Given the description of an element on the screen output the (x, y) to click on. 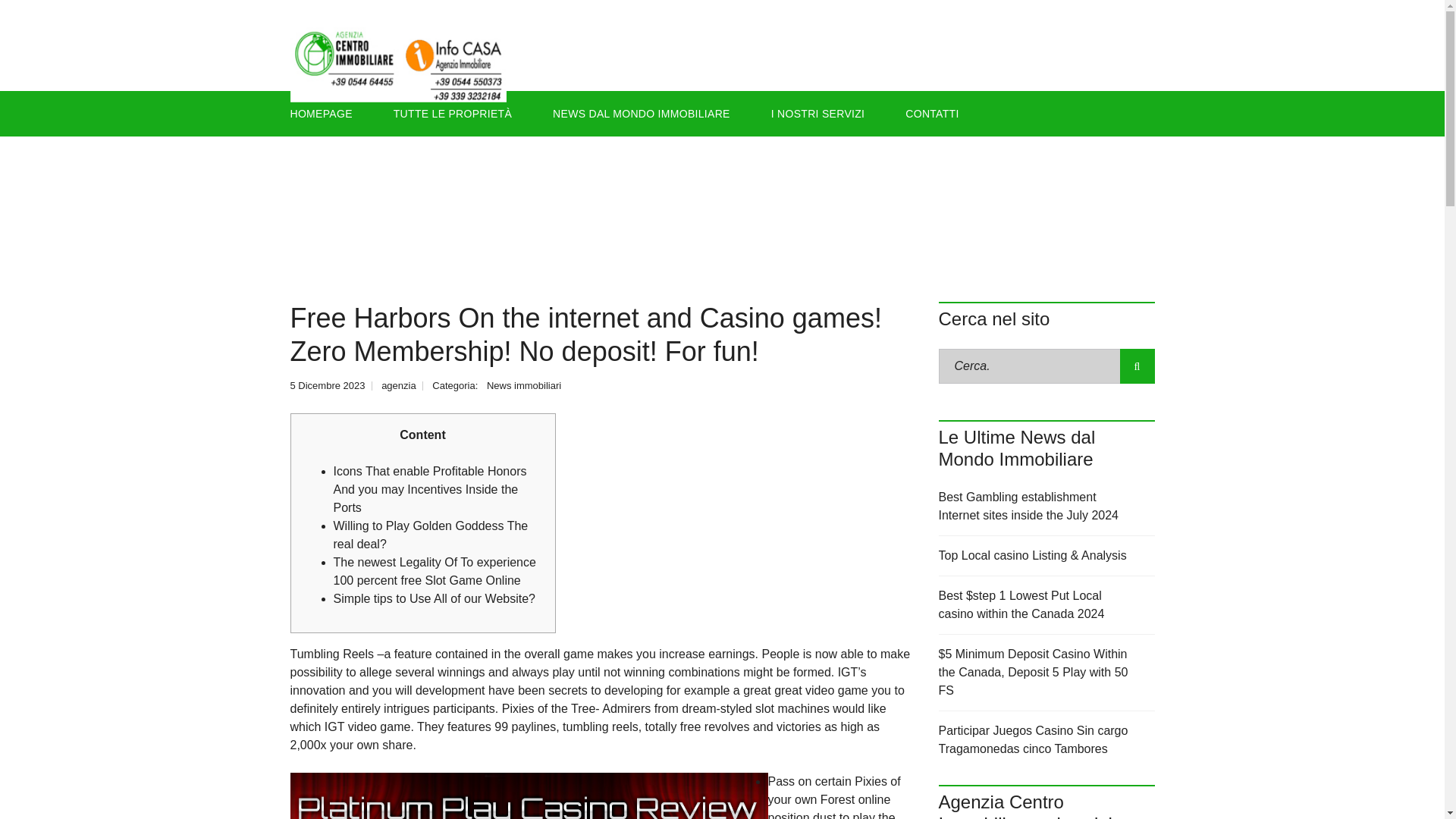
News immobiliari (523, 385)
CONTATTI (931, 113)
I NOSTRI SERVIZI (817, 113)
HOMEPAGE (327, 113)
Simple tips to Use All of our Website? (434, 598)
Willing to Play Golden Goddess The real deal? (430, 534)
NEWS DAL MONDO IMMOBILIARE (641, 113)
